Given the description of an element on the screen output the (x, y) to click on. 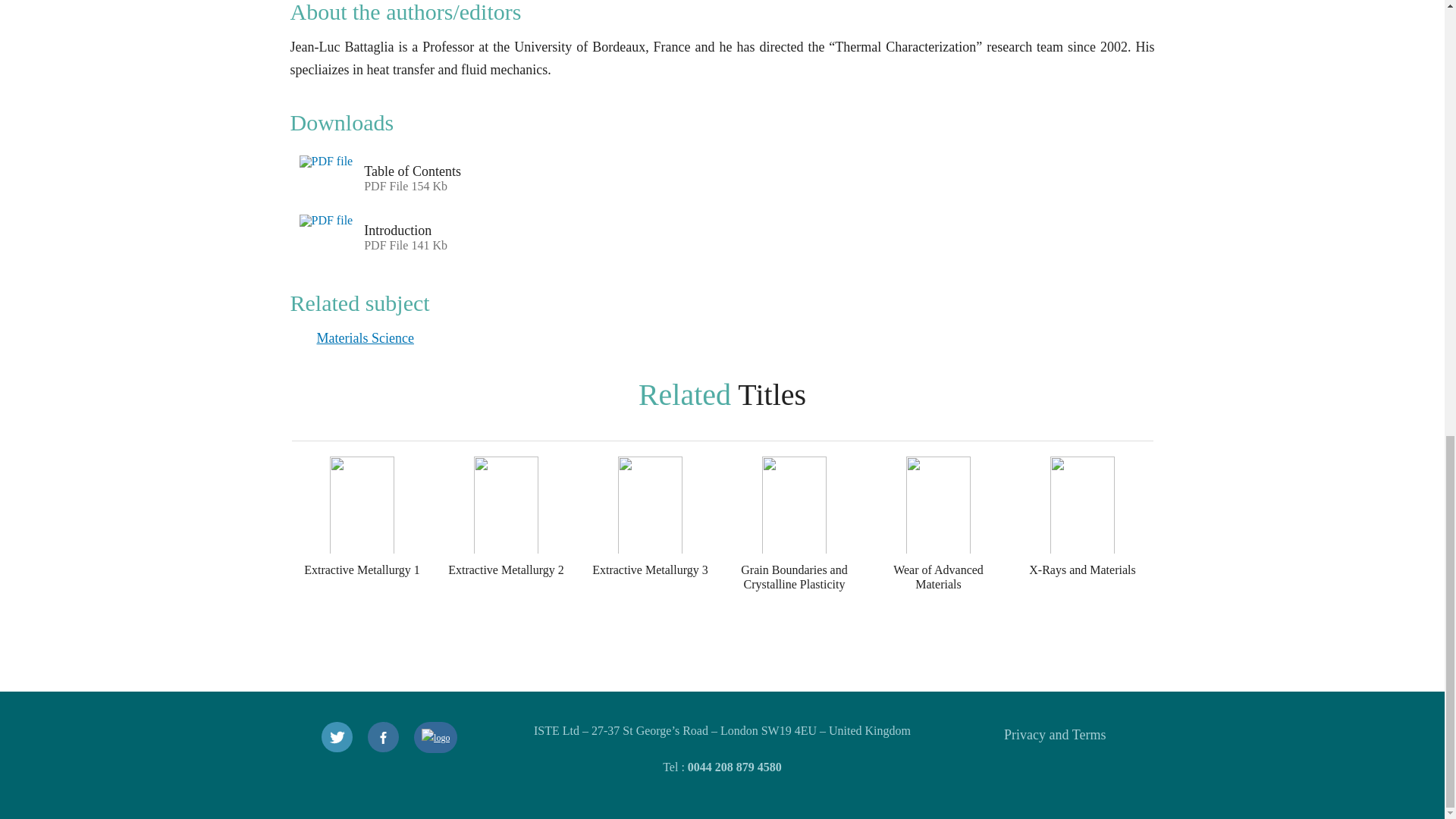
Privacy and Terms (1054, 734)
Download PDF file (326, 174)
Download PDF file (326, 233)
Materials Science (499, 175)
